Given the description of an element on the screen output the (x, y) to click on. 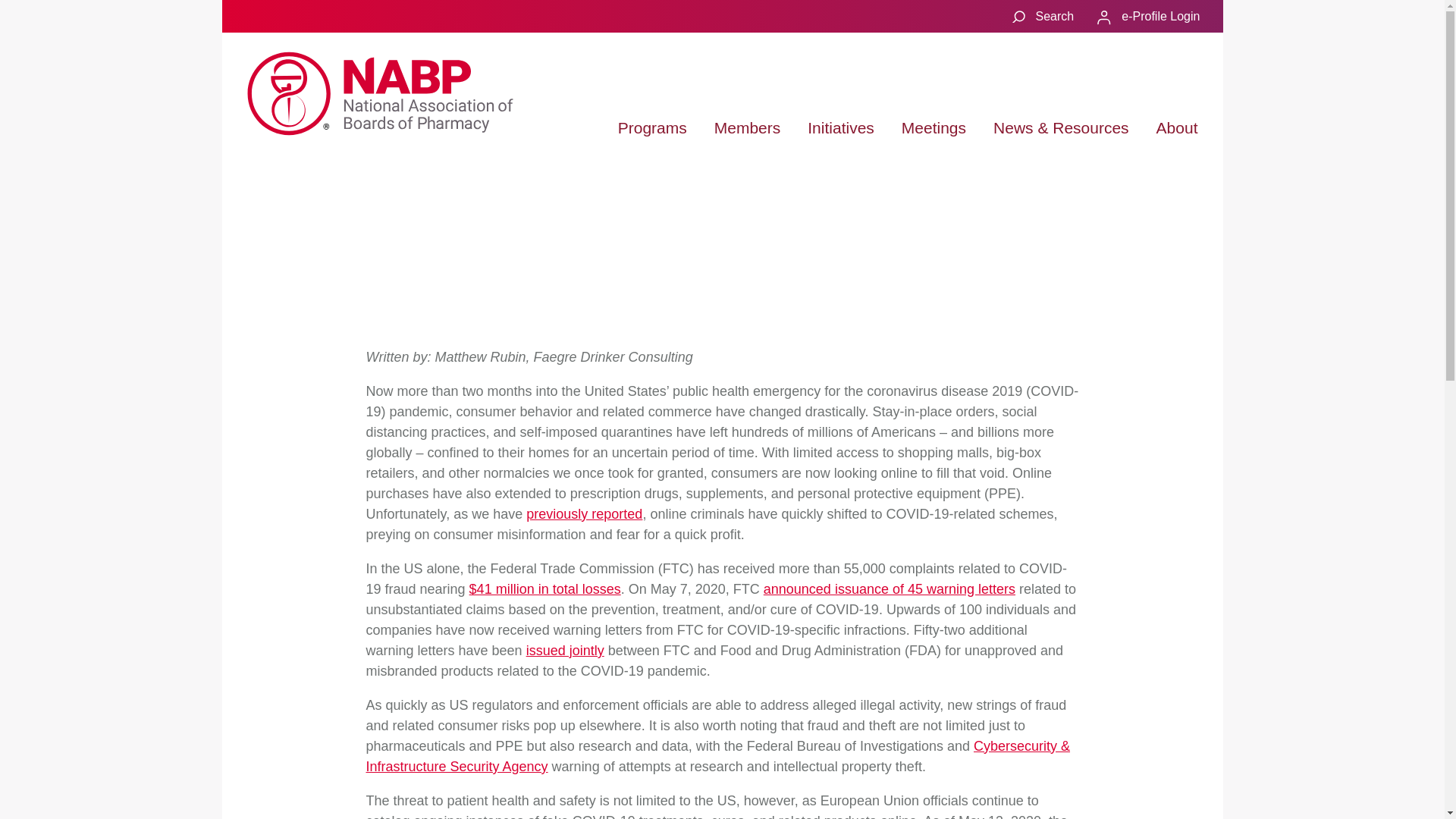
Programs (652, 127)
e-Profile Login (1147, 18)
Search (1041, 15)
